Given the description of an element on the screen output the (x, y) to click on. 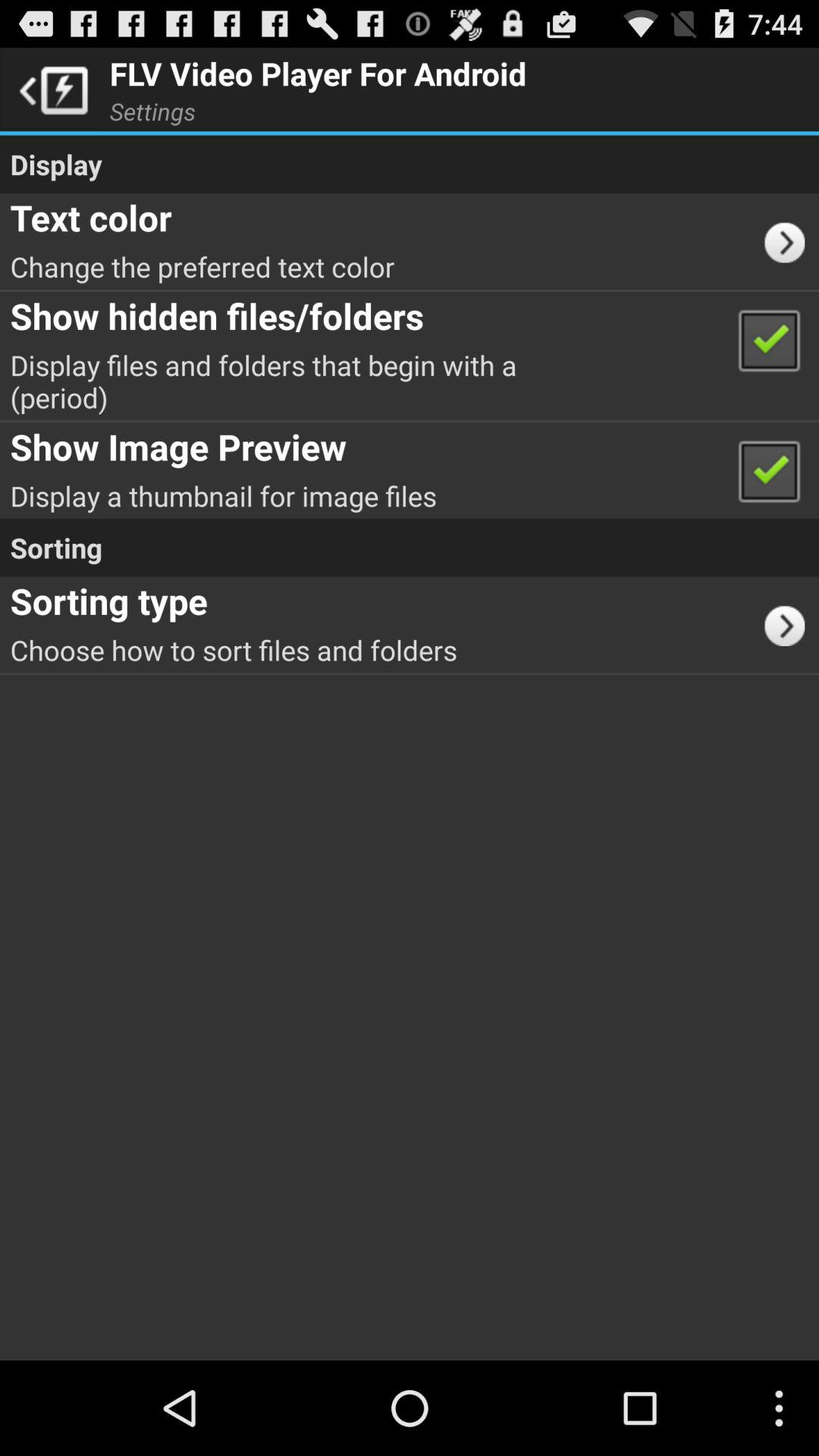
turn off icon next to the choose how to app (790, 624)
